Given the description of an element on the screen output the (x, y) to click on. 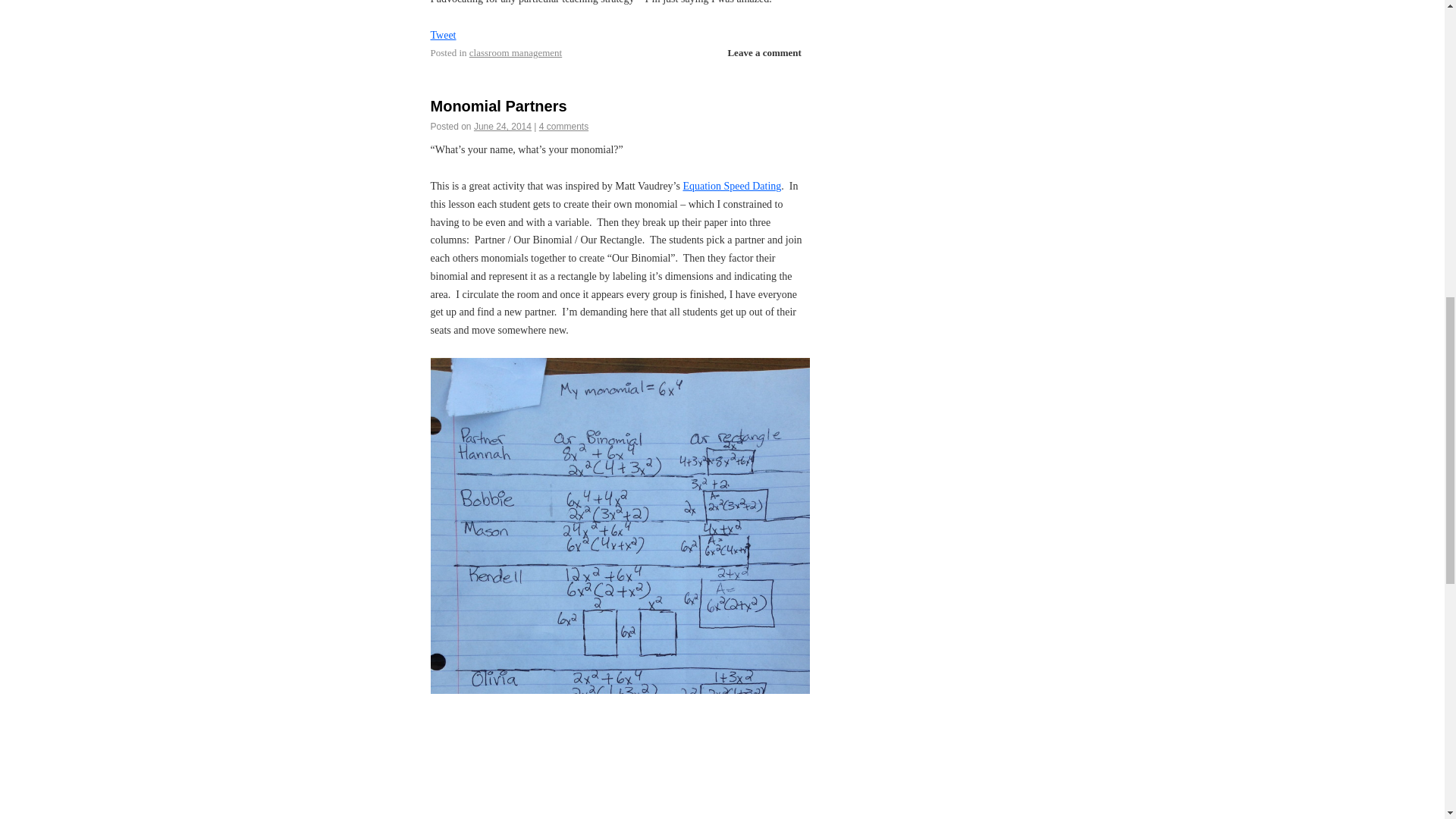
June 24, 2014 (502, 126)
Leave a comment (763, 53)
Monomial Partners (498, 105)
Equation Speed Dating (731, 185)
3:42 am (502, 126)
4 comments (563, 126)
classroom management (515, 52)
Tweet (443, 34)
